Given the description of an element on the screen output the (x, y) to click on. 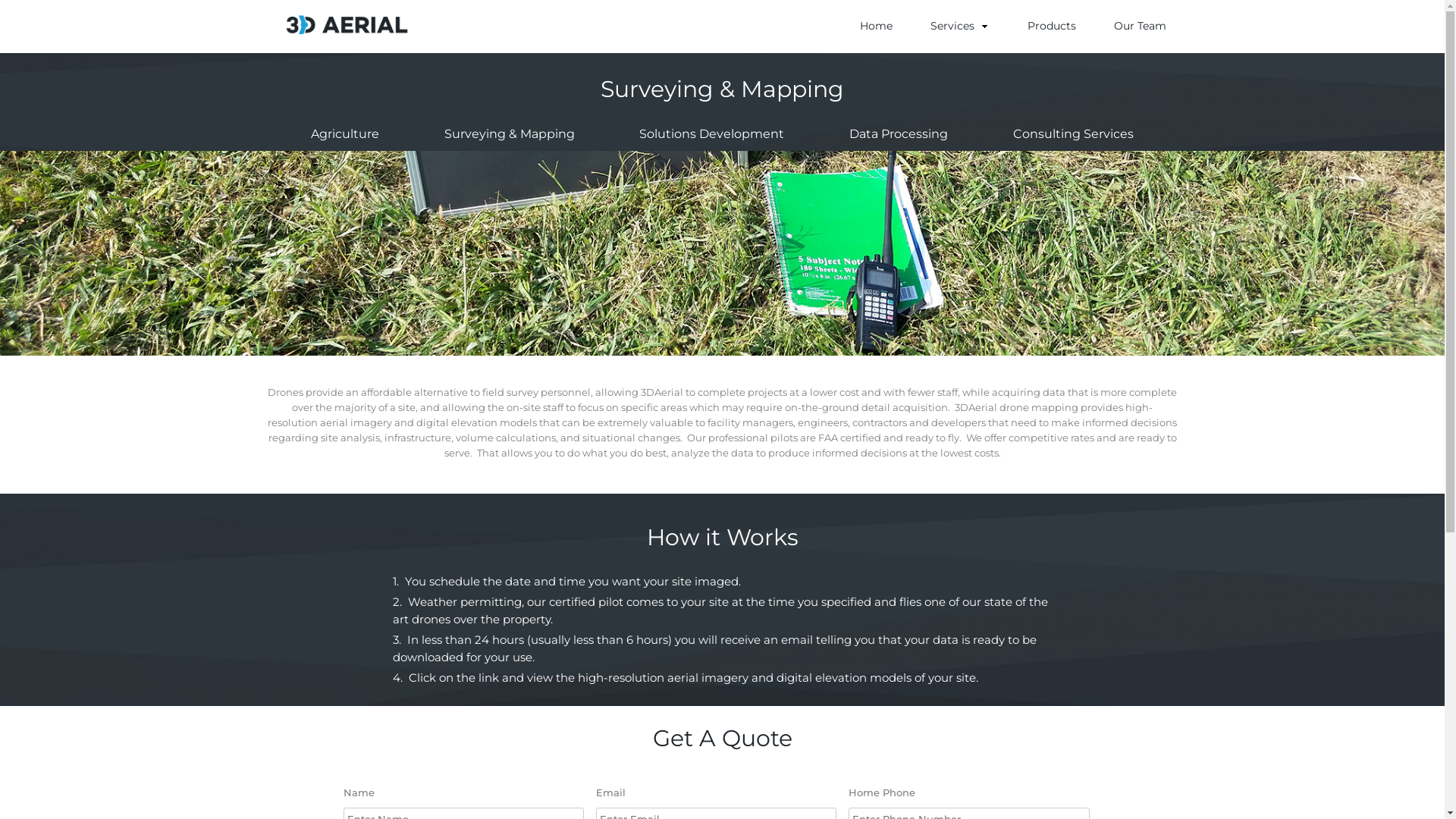
3D Aerial Element type: text (305, 64)
Data Processing Element type: text (898, 133)
Our Team Element type: text (1139, 26)
Agriculture Element type: text (344, 133)
Products Element type: text (1050, 26)
Home Element type: text (875, 26)
Consulting Services Element type: text (1073, 133)
Solutions Development Element type: text (711, 133)
Services Element type: text (958, 26)
Surveying & Mapping Element type: text (509, 133)
